Given the description of an element on the screen output the (x, y) to click on. 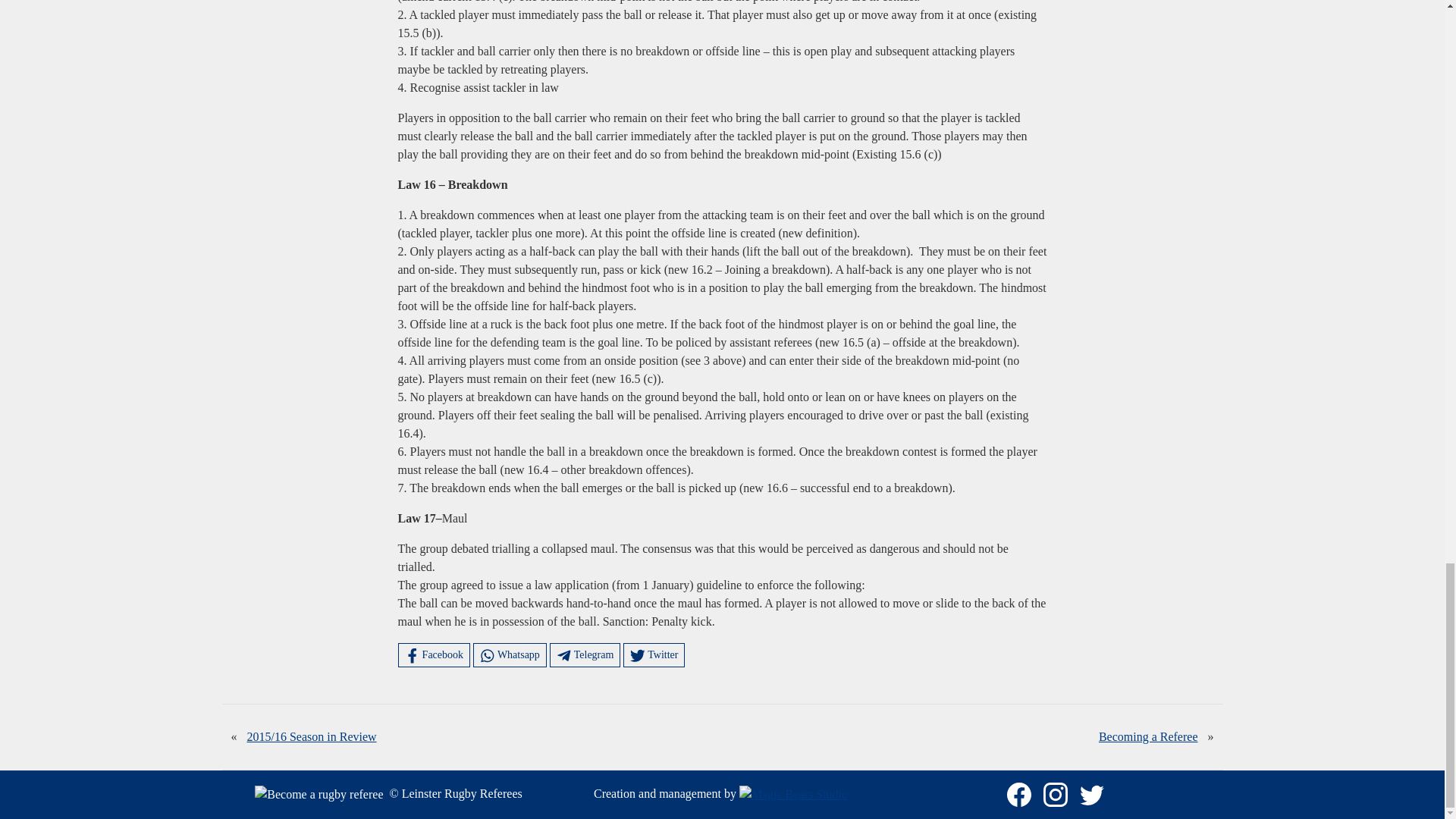
Share on Twitter (653, 654)
Share on Whatsapp (510, 654)
Share on Facebook (433, 654)
Share on Telegram (585, 654)
